Given the description of an element on the screen output the (x, y) to click on. 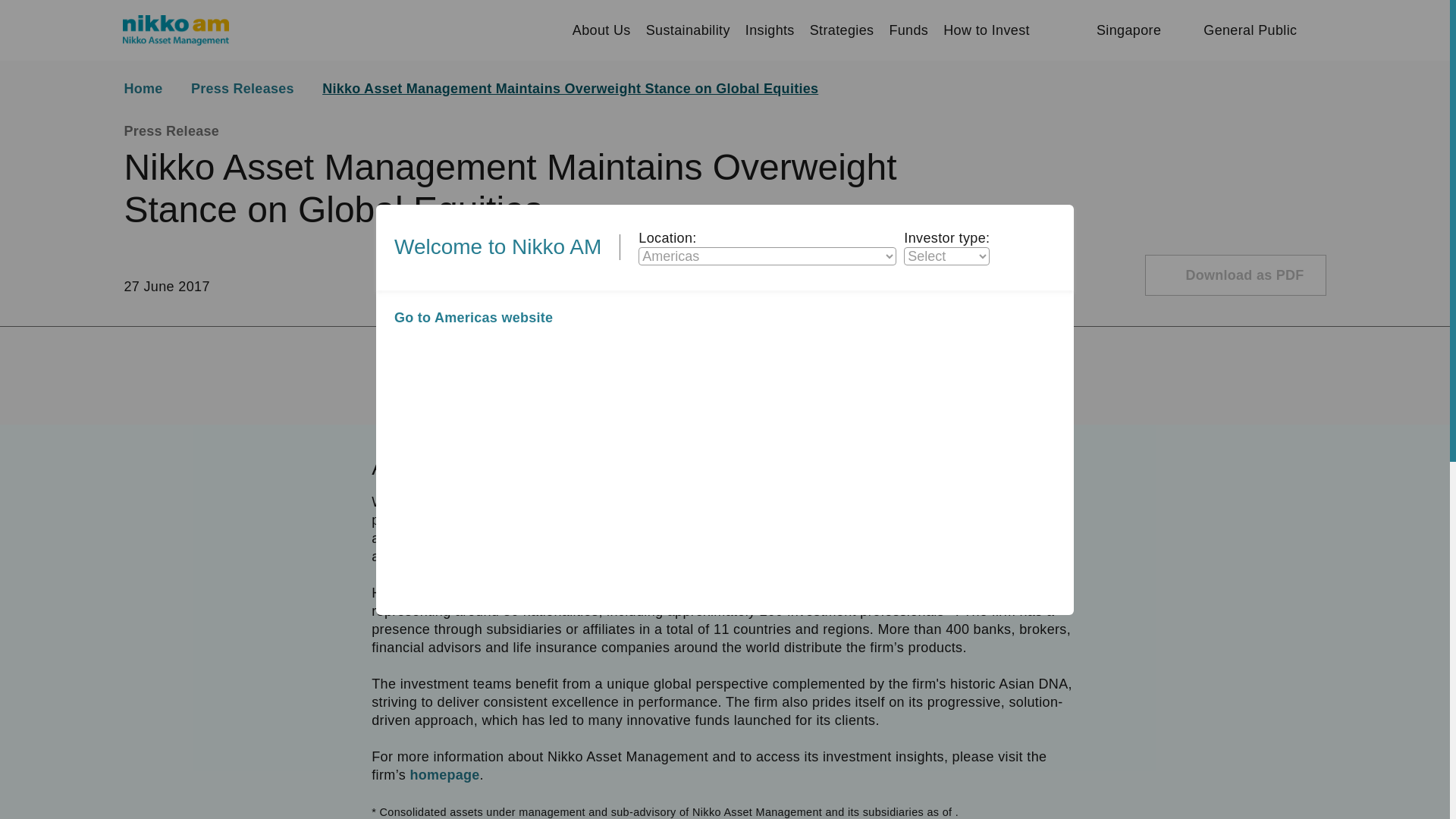
homepage (444, 774)
How to Invest (986, 30)
Sustainability (688, 30)
About Us (601, 30)
Strategies (842, 30)
Go to Americas website (473, 316)
Funds (908, 30)
Home (153, 88)
Insights (769, 30)
Press Releases (252, 88)
Download as PDF (1234, 274)
